Given the description of an element on the screen output the (x, y) to click on. 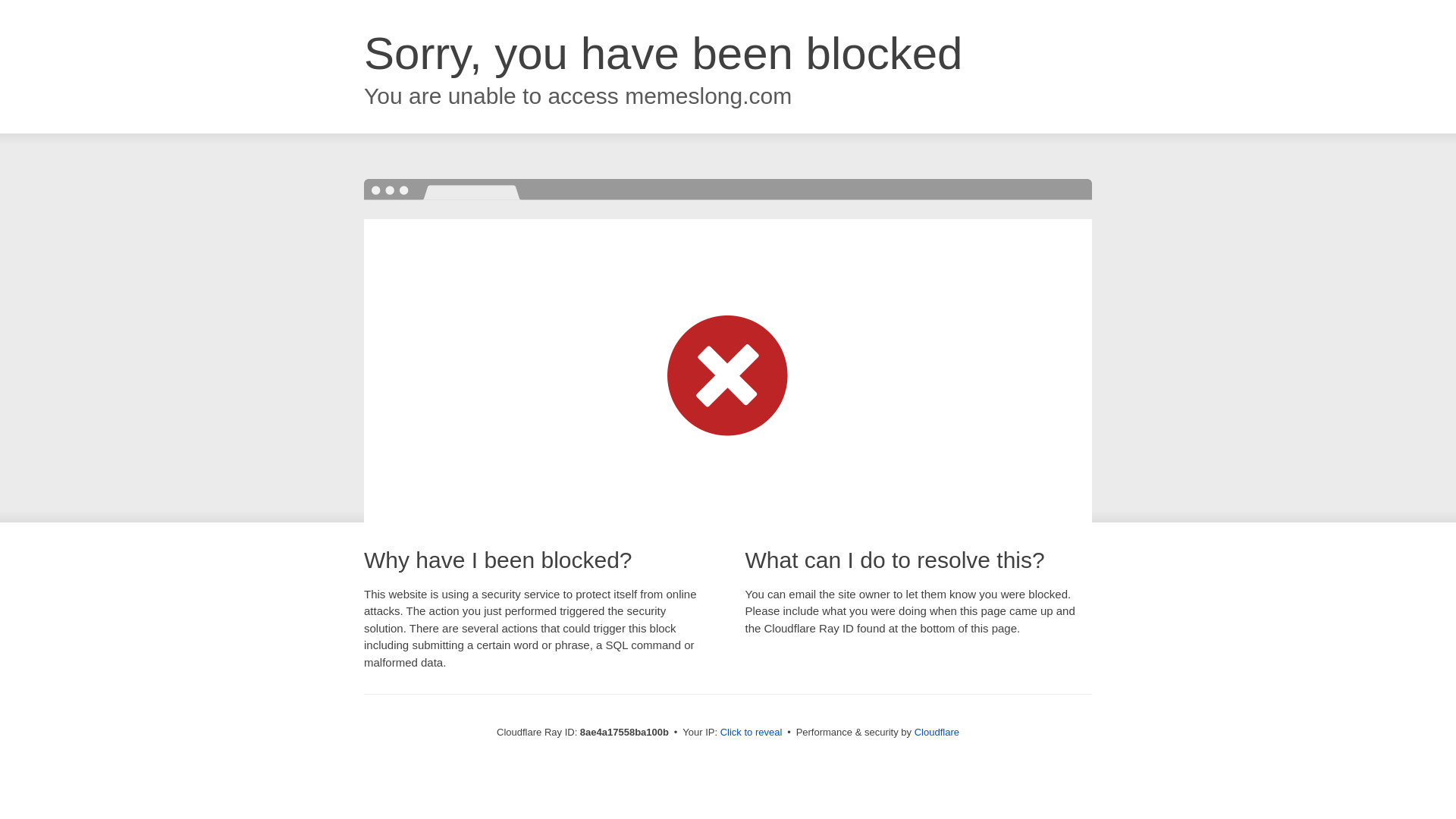
Cloudflare (936, 731)
Click to reveal (751, 732)
